Given the description of an element on the screen output the (x, y) to click on. 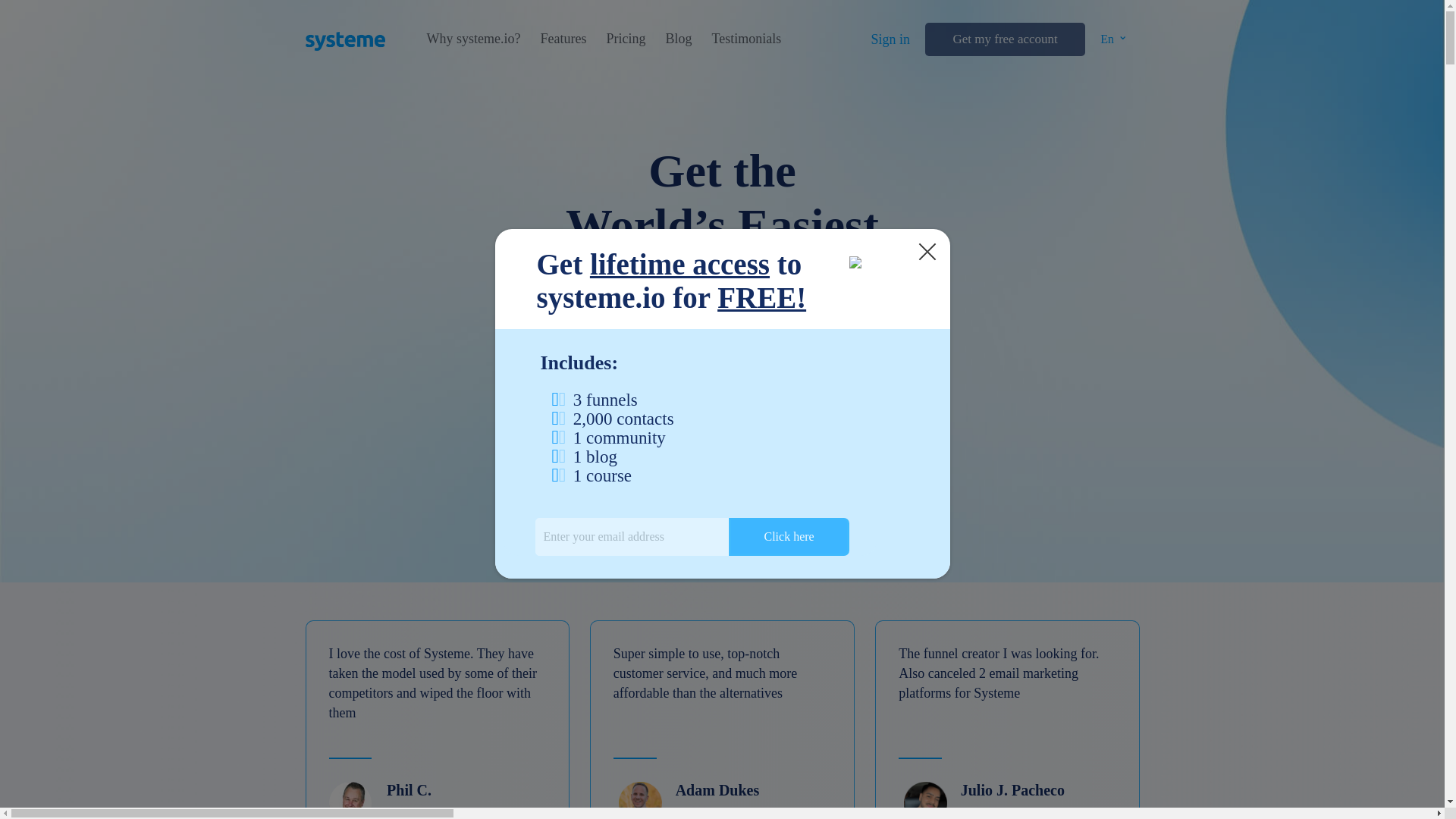
Blog (678, 38)
Sign in (890, 39)
Testimonials (745, 38)
Get my free account (1004, 39)
Features (563, 38)
Why systeme.io? (472, 38)
Pricing (625, 38)
